Given the description of an element on the screen output the (x, y) to click on. 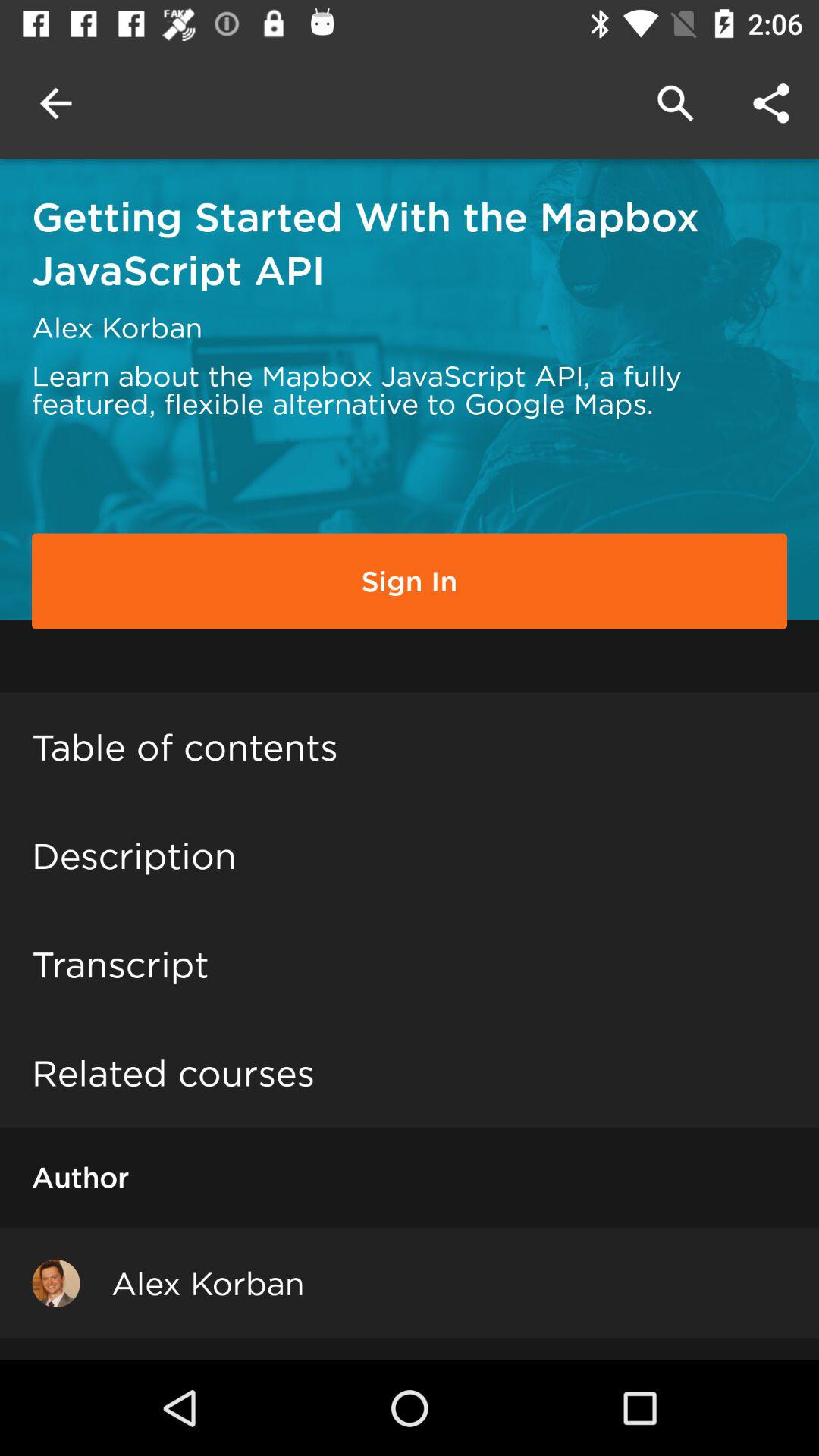
click item to the left of alex korban icon (55, 1282)
